Given the description of an element on the screen output the (x, y) to click on. 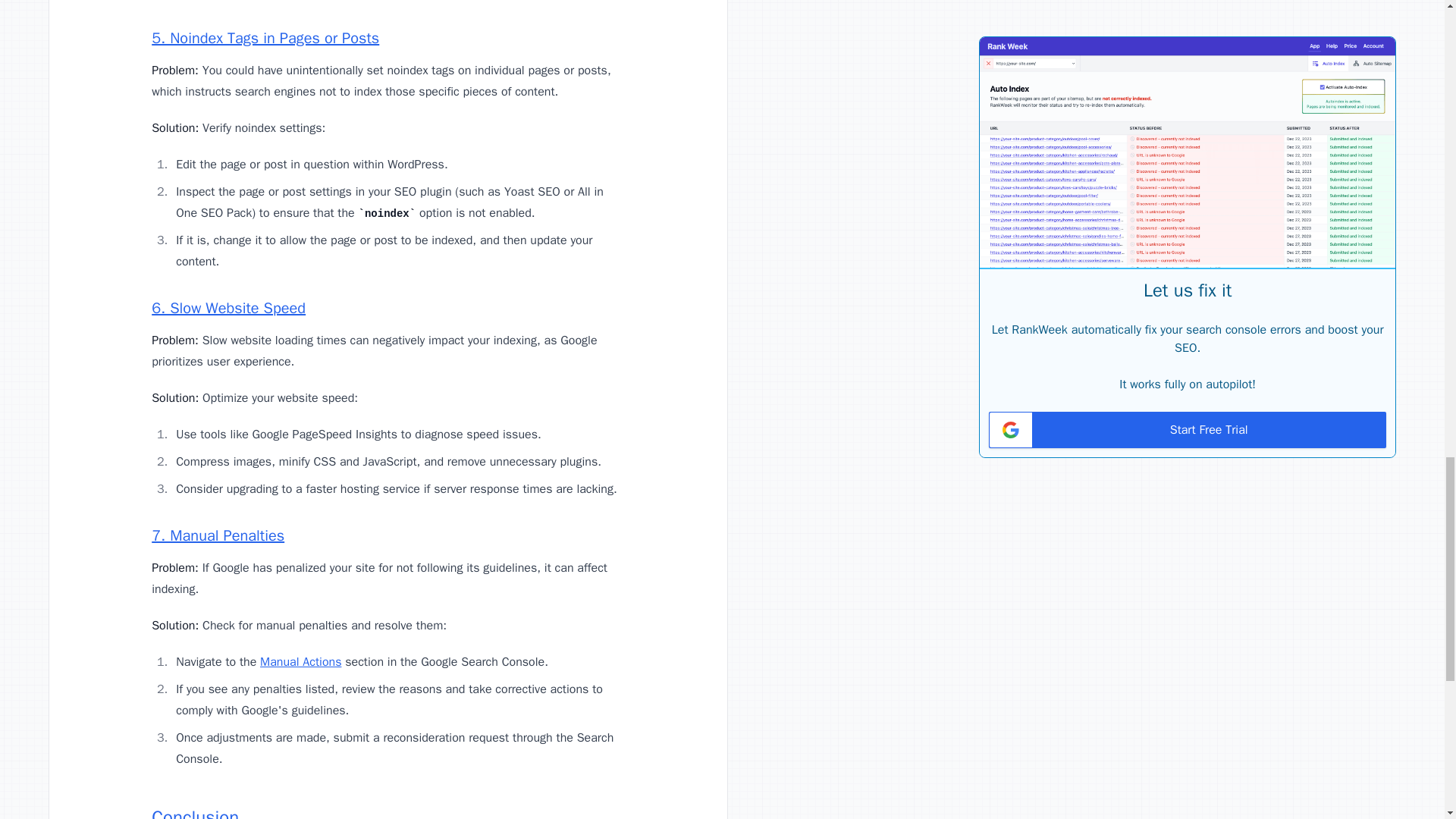
Conclusion (194, 812)
Manual Actions (300, 661)
6. Slow Website Speed (228, 307)
7. Manual Penalties (217, 535)
5. Noindex Tags in Pages or Posts (264, 37)
